Given the description of an element on the screen output the (x, y) to click on. 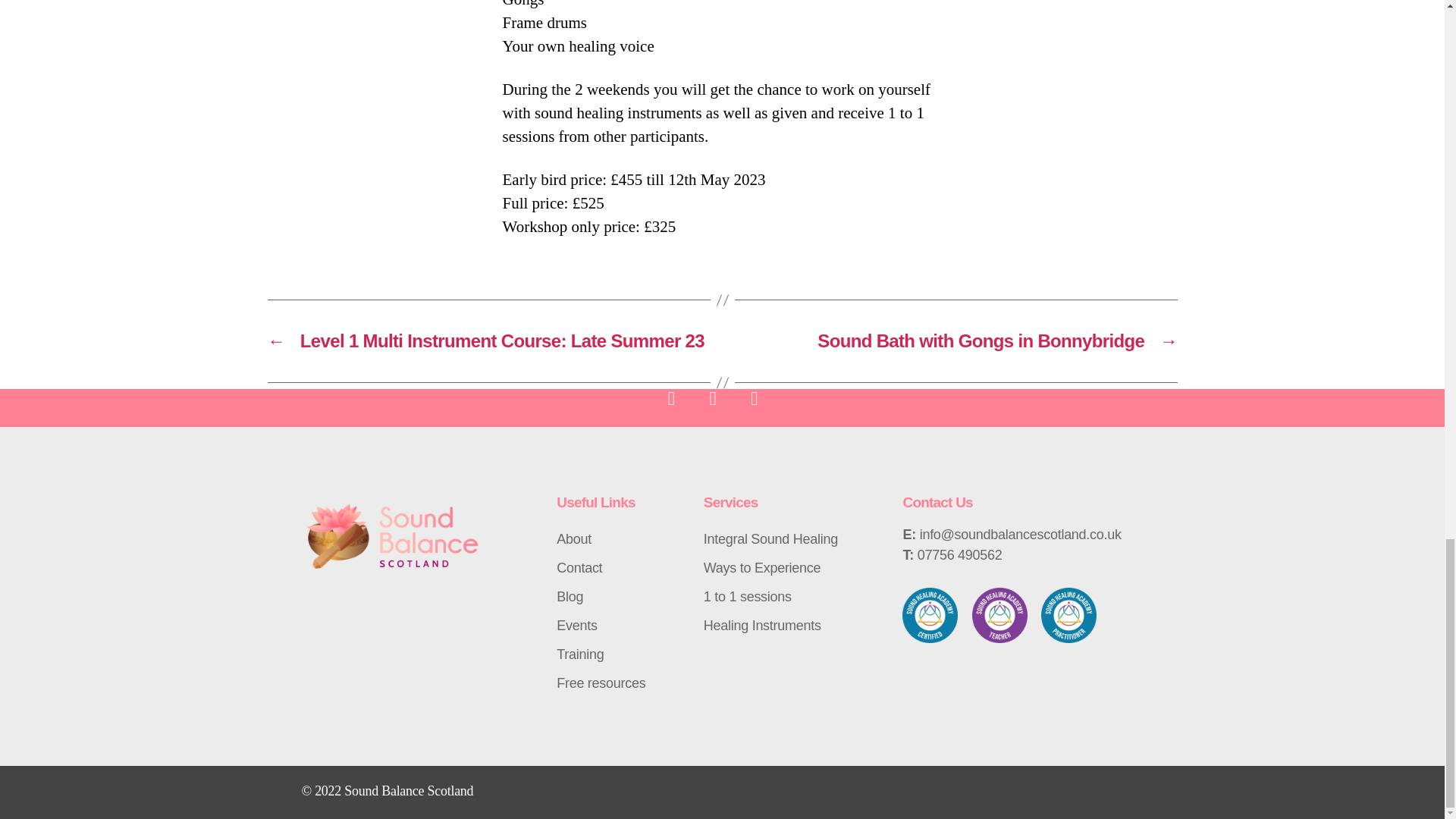
Blog (622, 596)
Free resources (622, 683)
Training (622, 654)
Events (622, 624)
Ways to Experience (795, 567)
About (622, 538)
Contact (622, 567)
Integral Sound Healing (795, 538)
